Given the description of an element on the screen output the (x, y) to click on. 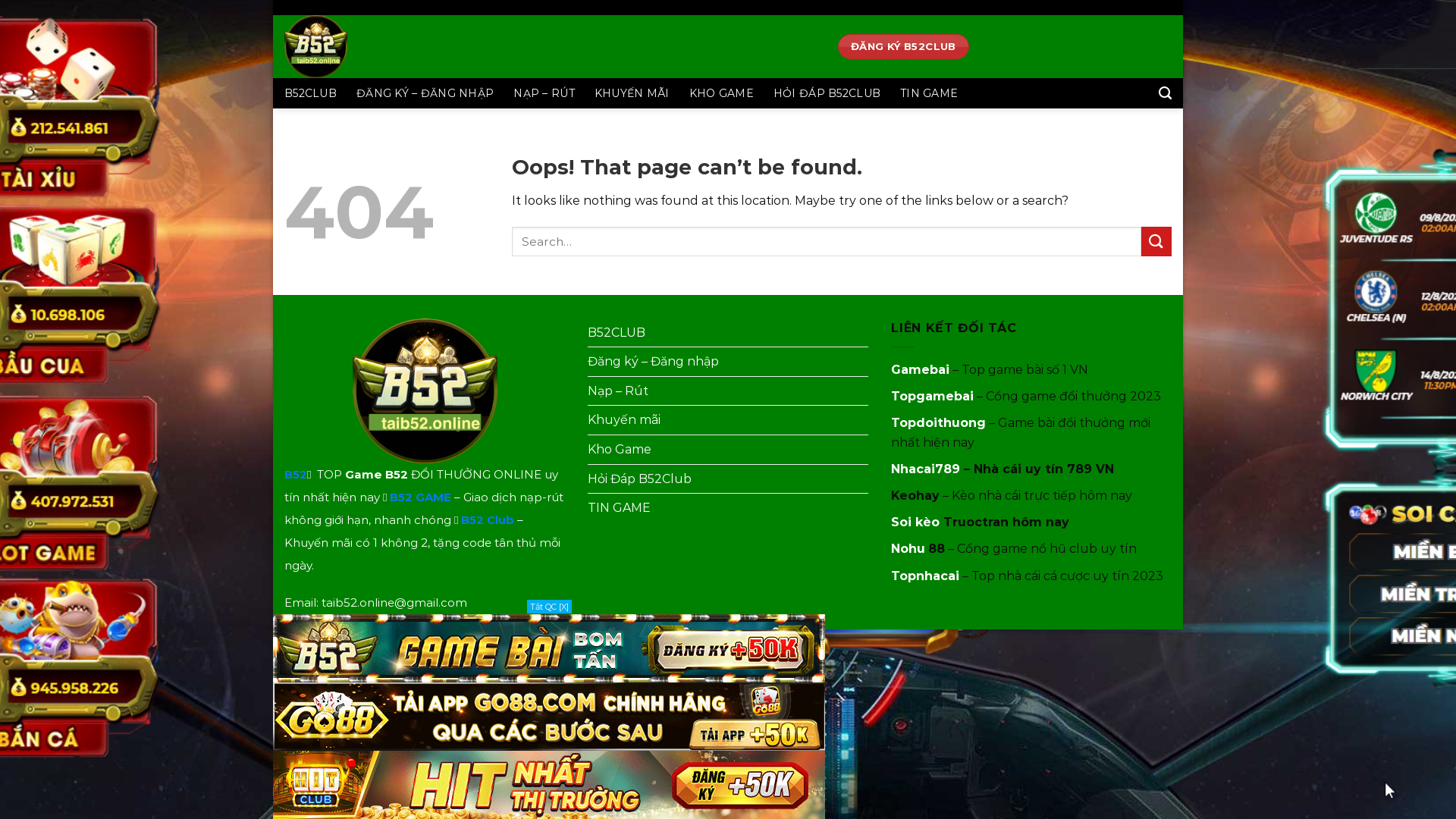
TIN GAME Element type: text (618, 507)
B52 Element type: text (295, 474)
Nhacai789 Element type: text (925, 468)
B52CLUB Element type: text (616, 332)
TIN GAME Element type: text (928, 92)
Skip to content Element type: text (273, 0)
Topnhacai Element type: text (925, 575)
B52 GAME Element type: text (420, 496)
Topdoithuong Element type: text (938, 422)
Kho Game Element type: text (619, 449)
Topgamebai Element type: text (932, 396)
Nohu Element type: text (908, 548)
B52 Club Element type: text (487, 519)
Gamebai Element type: text (920, 369)
KHO GAME Element type: text (721, 92)
B52CLUB Element type: text (310, 92)
